Given the description of an element on the screen output the (x, y) to click on. 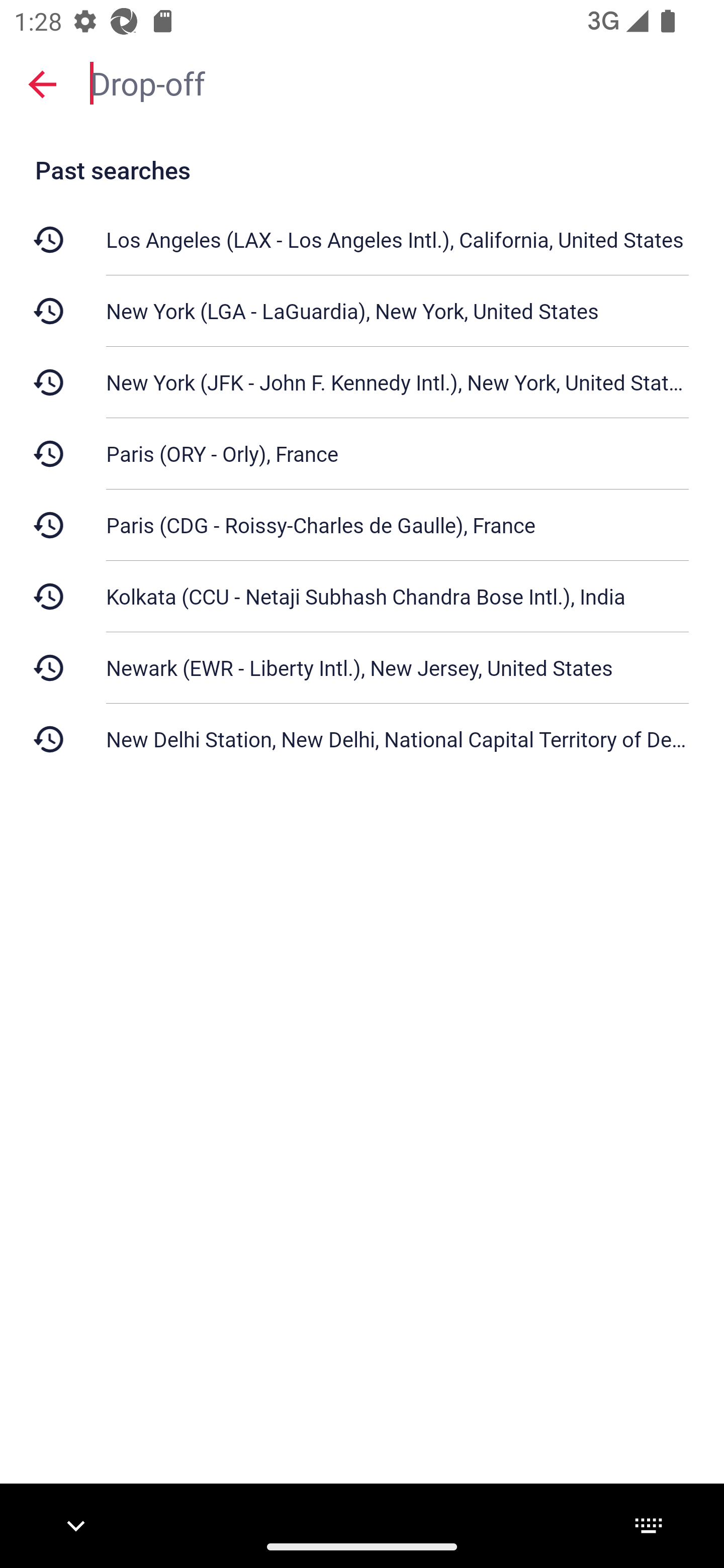
Close search screen (42, 84)
Drop-off,  (397, 82)
